Given the description of an element on the screen output the (x, y) to click on. 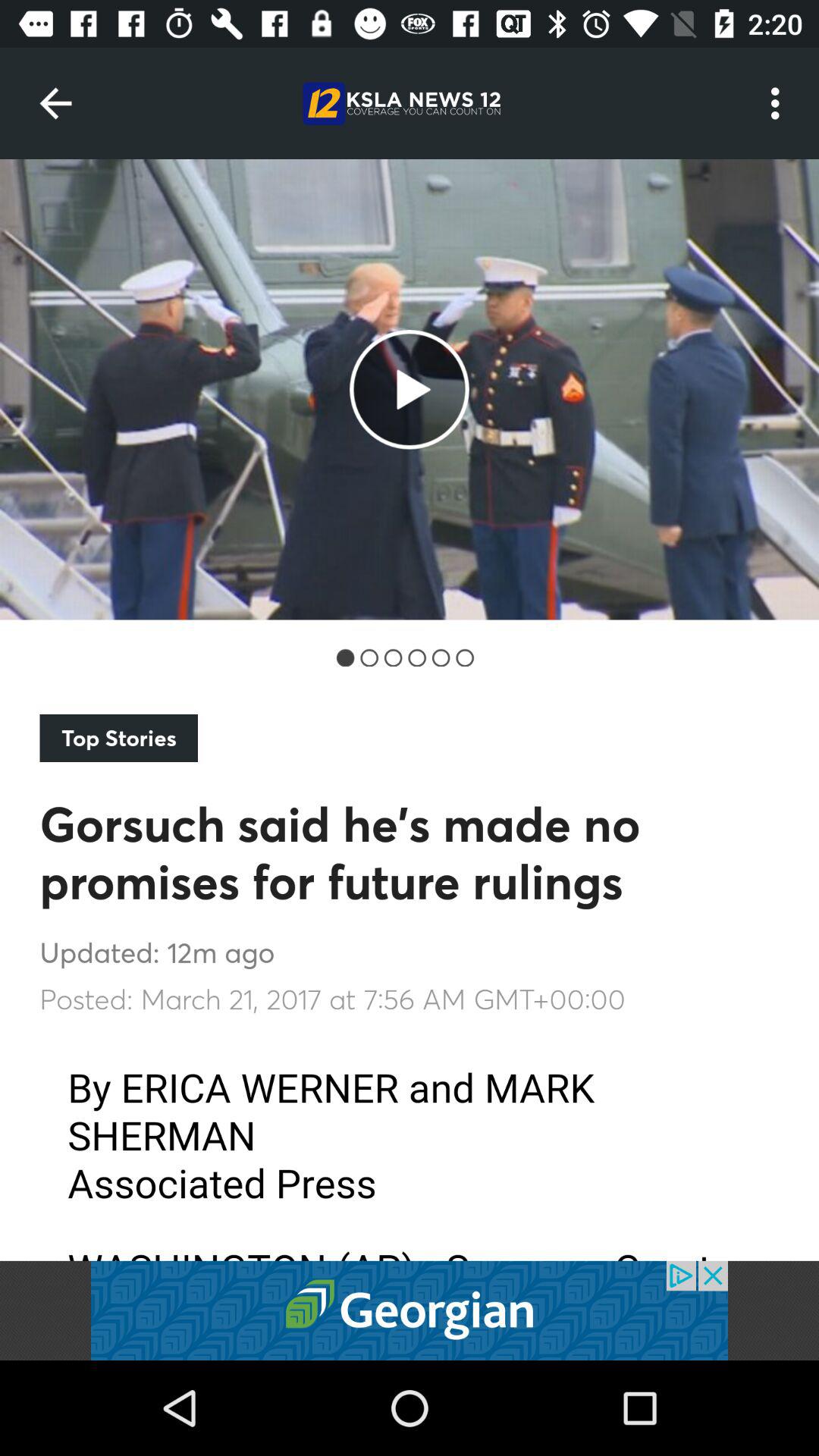
play button (409, 1310)
